Given the description of an element on the screen output the (x, y) to click on. 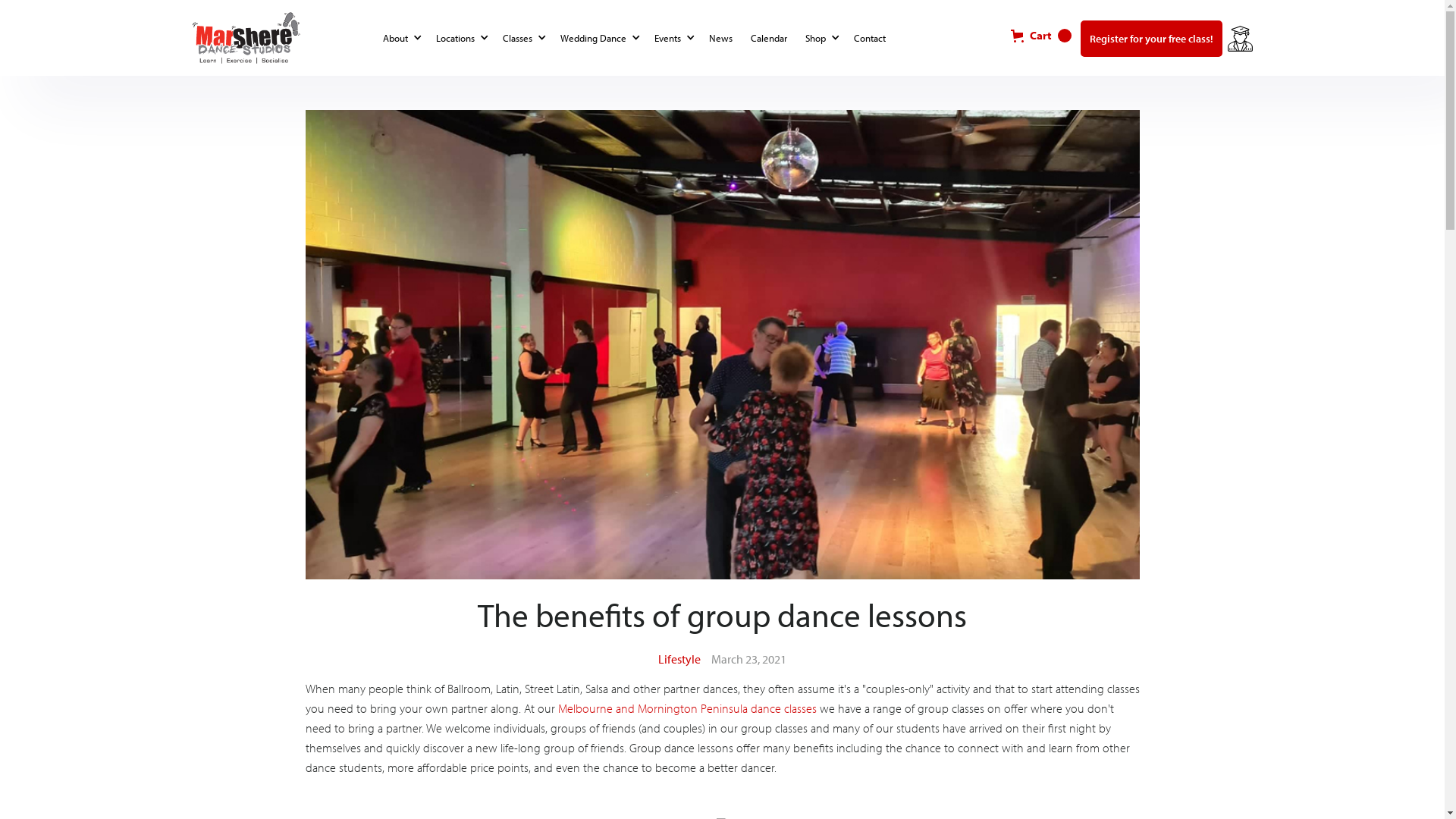
Cart Element type: text (1040, 35)
Contact Element type: text (872, 37)
Lifestyle Element type: text (254, 18)
Register for your free class! Element type: text (1150, 38)
Lifestyle Element type: text (679, 658)
News Element type: text (722, 37)
Calendar Element type: text (771, 37)
Melbourne and Mornington Peninsula dance classes Element type: text (687, 707)
Blog Element type: text (202, 18)
